Given the description of an element on the screen output the (x, y) to click on. 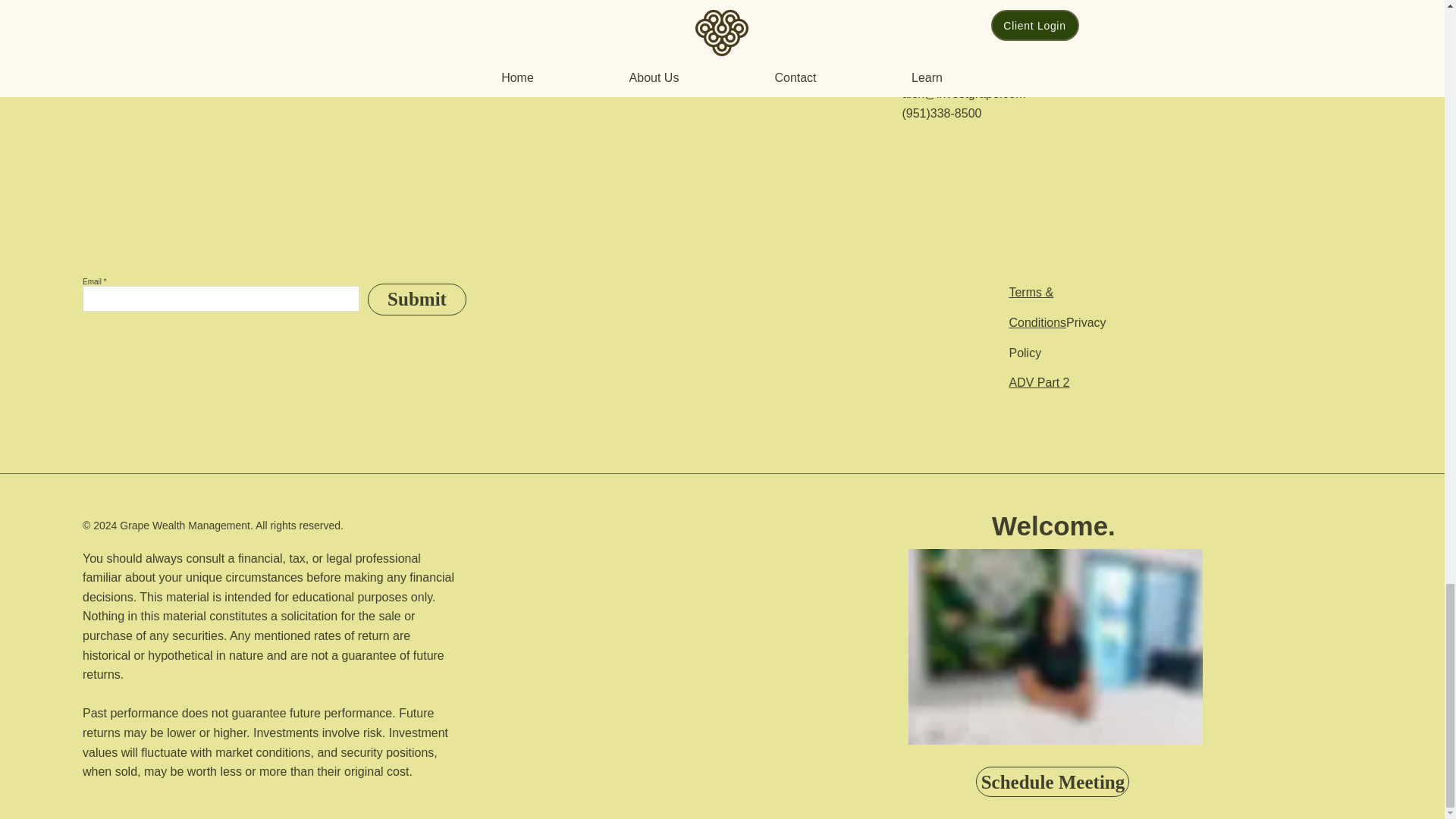
Privacy Policy (1057, 337)
Schedule Meeting (1052, 781)
Submit (416, 299)
ADV Part 2 (1038, 382)
